Given the description of an element on the screen output the (x, y) to click on. 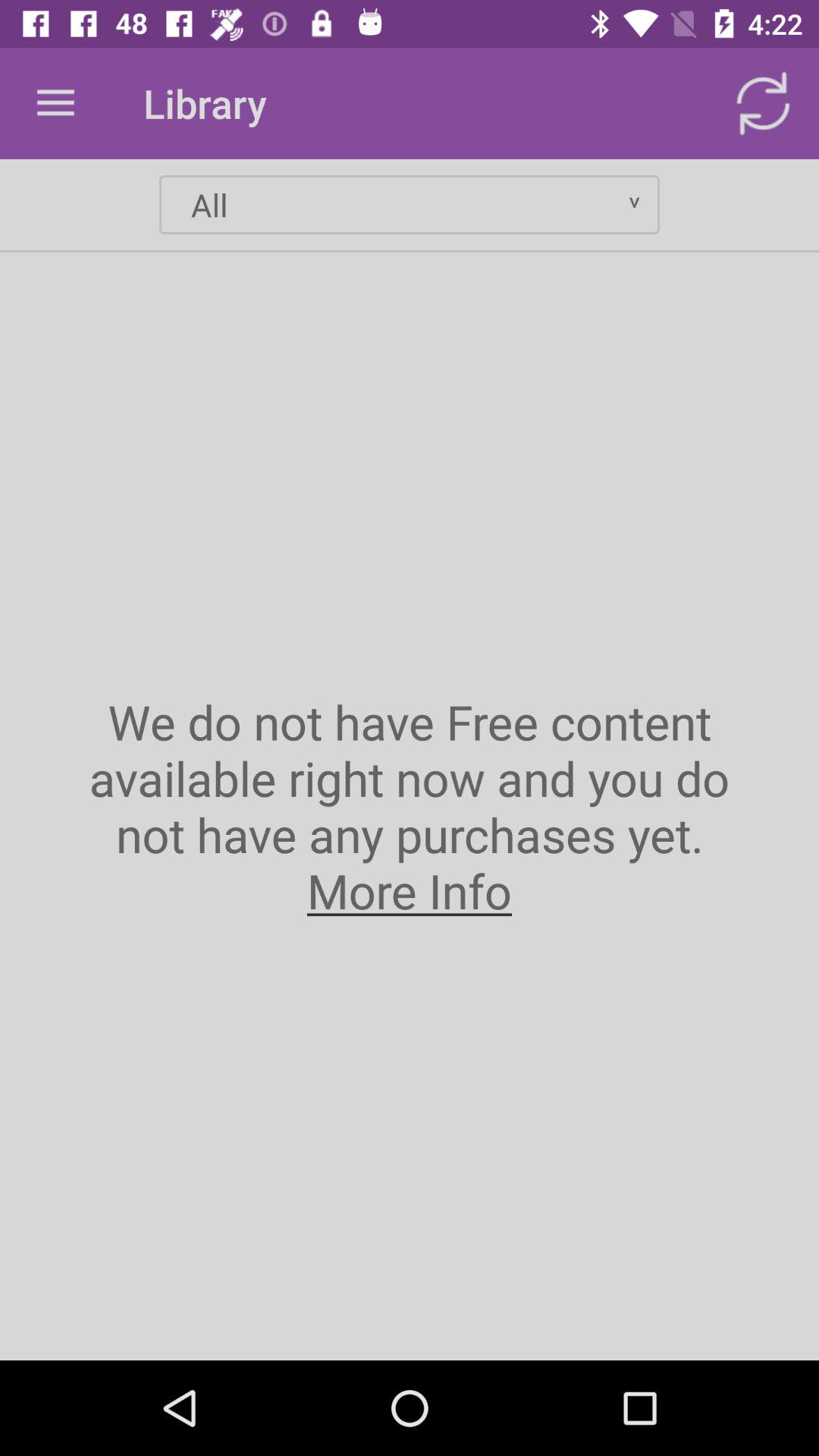
press the item next to the library icon (55, 103)
